Given the description of an element on the screen output the (x, y) to click on. 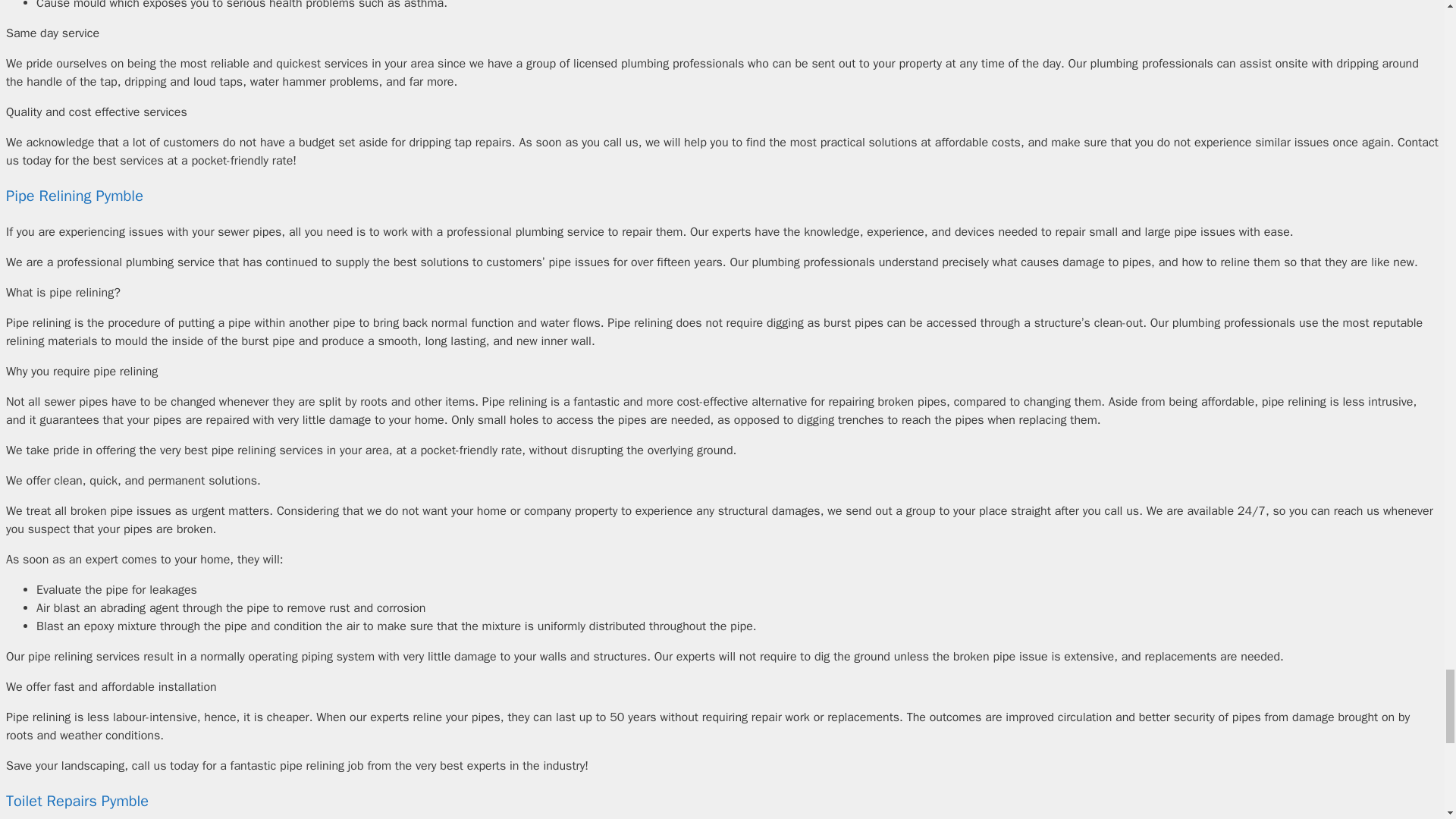
Toilet Repairs Pymble (76, 800)
Pipe Relining Pymble (73, 195)
